Given the description of an element on the screen output the (x, y) to click on. 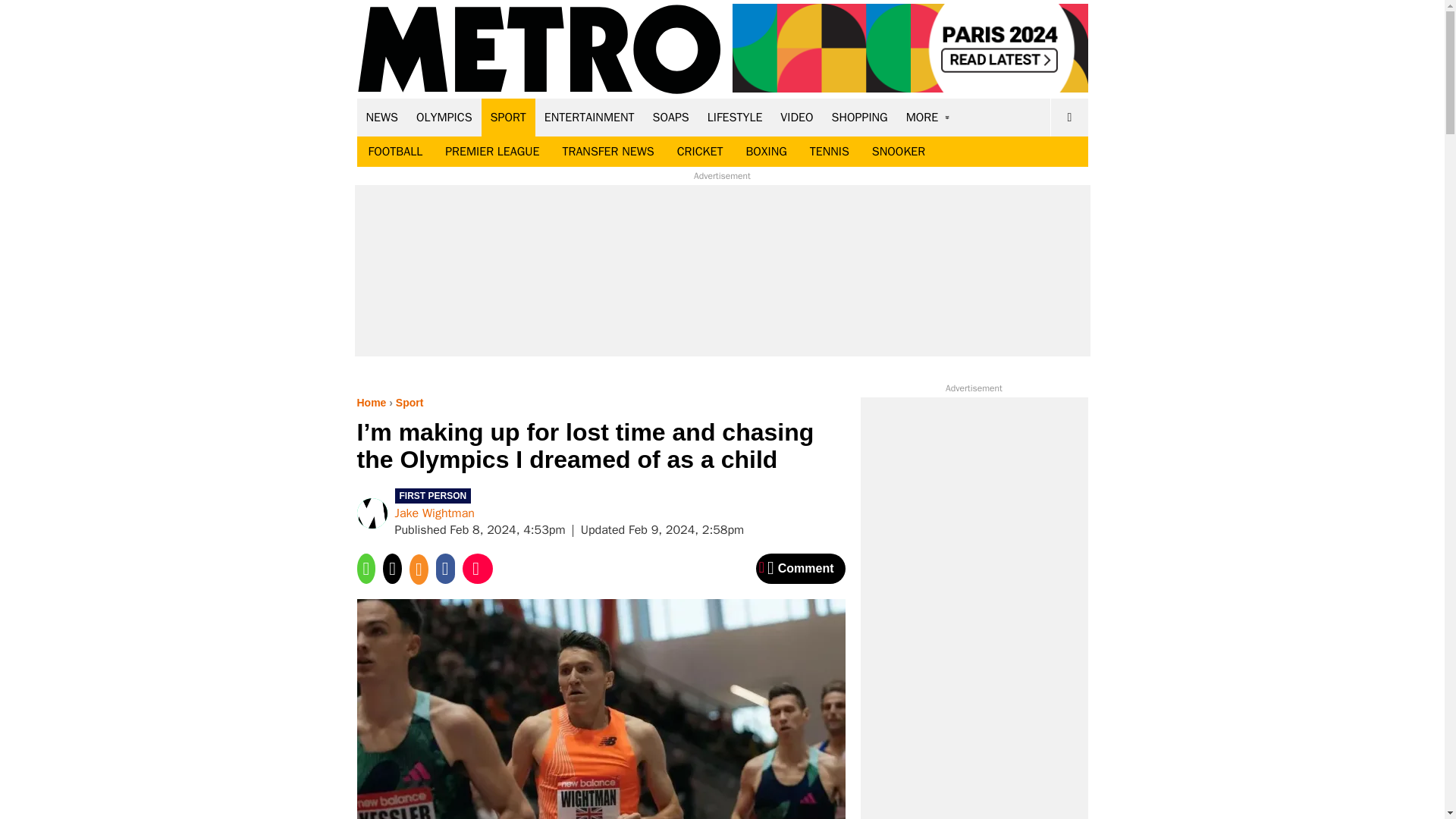
SPORT (508, 117)
OLYMPICS (444, 117)
SOAPS (670, 117)
CRICKET (700, 151)
TRANSFER NEWS (607, 151)
Metro (539, 50)
TENNIS (828, 151)
SNOOKER (898, 151)
PREMIER LEAGUE (491, 151)
FOOTBALL (394, 151)
LIFESTYLE (734, 117)
BOXING (765, 151)
ENTERTAINMENT (589, 117)
NEWS (381, 117)
